Given the description of an element on the screen output the (x, y) to click on. 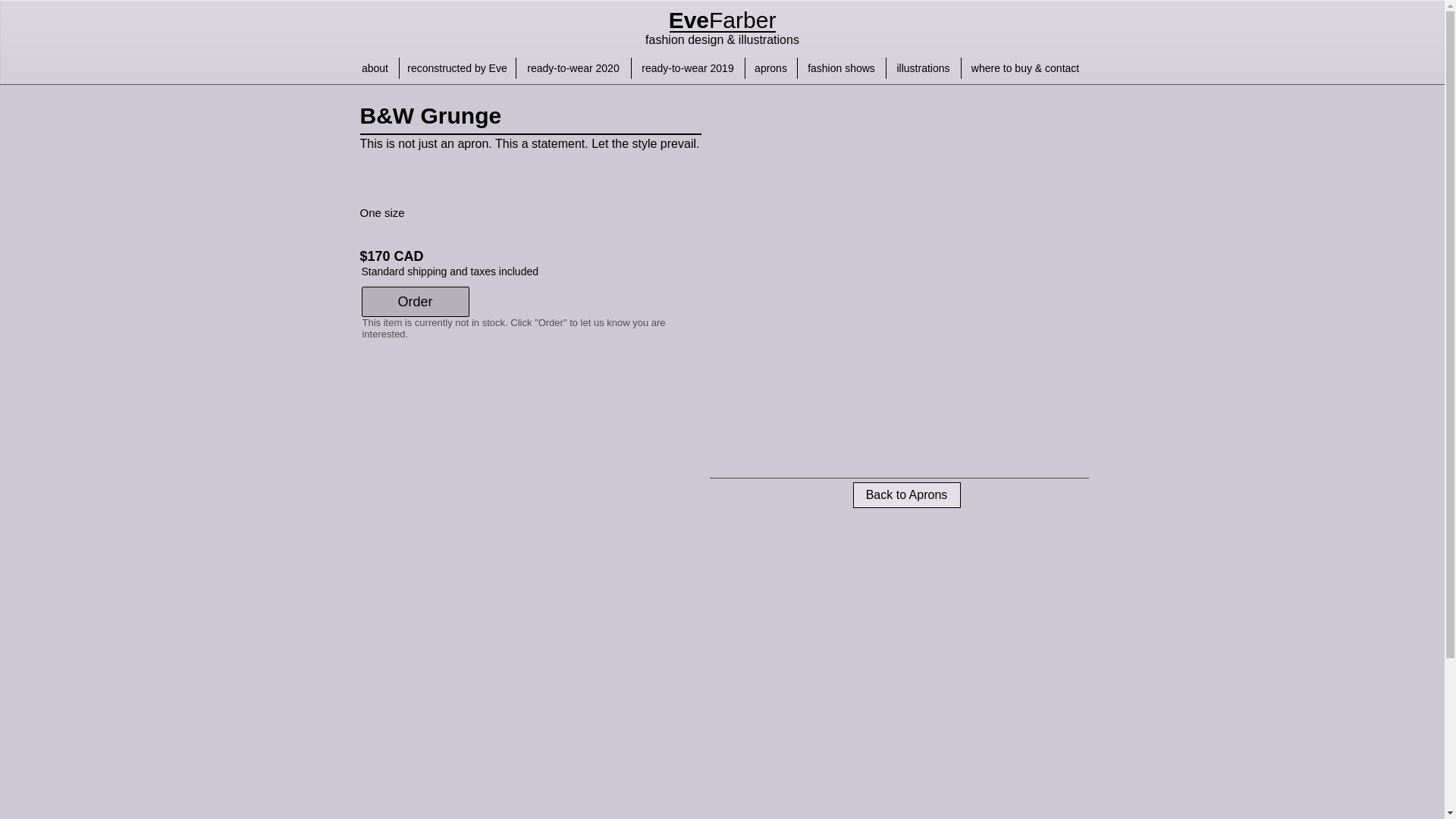
Farber (742, 19)
Eve (688, 19)
about (375, 67)
ready-to-wear 2020 (572, 67)
reconstructed by Eve (456, 67)
ready-to-wear 2019 (687, 67)
